Given the description of an element on the screen output the (x, y) to click on. 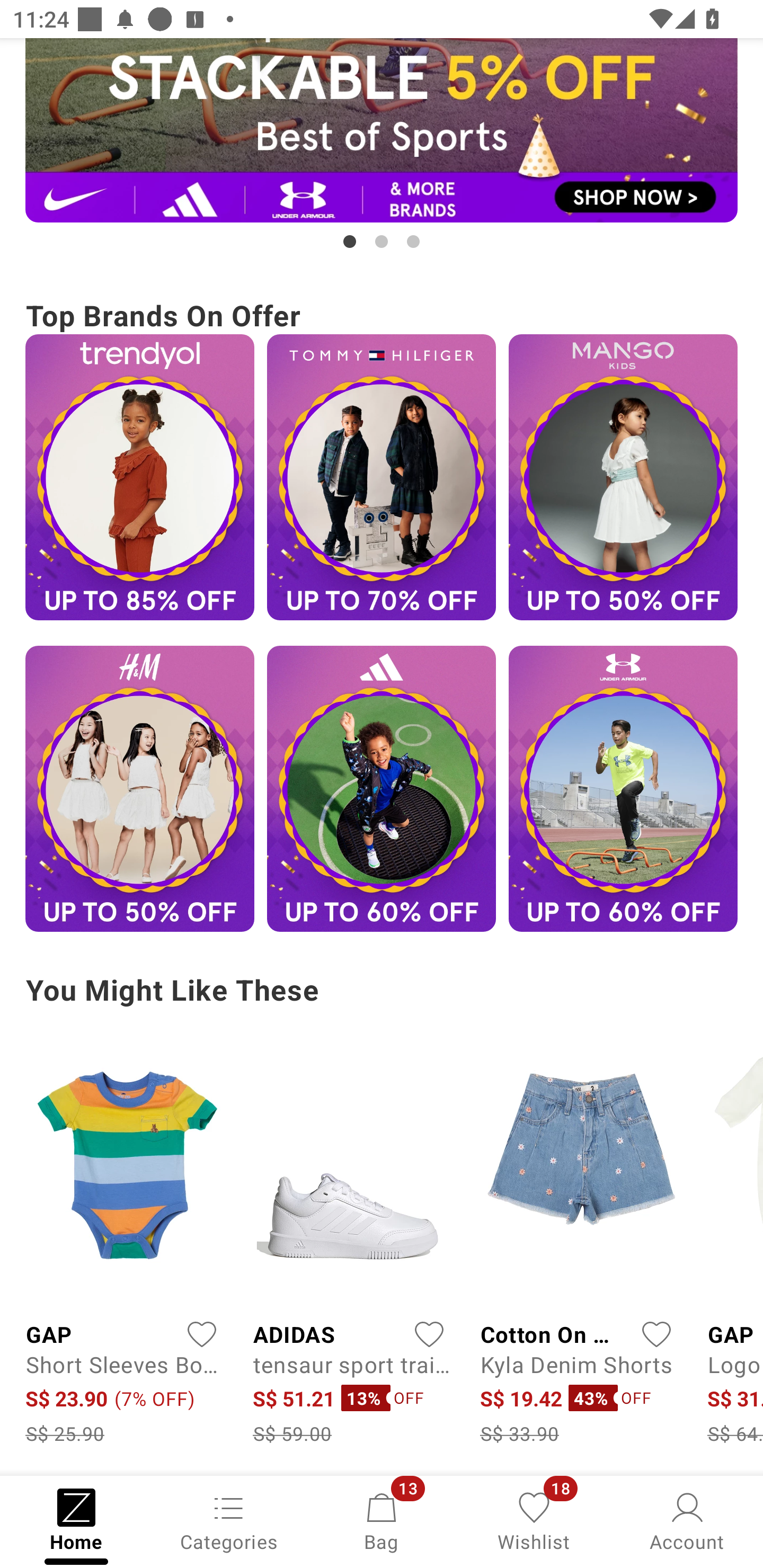
Campaign banner (381, 129)
Campaign banner (139, 476)
Campaign banner (381, 476)
Campaign banner (622, 476)
Campaign banner (139, 788)
Campaign banner (381, 788)
Campaign banner (622, 788)
Categories (228, 1519)
Bag, 13 new notifications Bag (381, 1519)
Wishlist, 18 new notifications Wishlist (533, 1519)
Account (686, 1519)
